Given the description of an element on the screen output the (x, y) to click on. 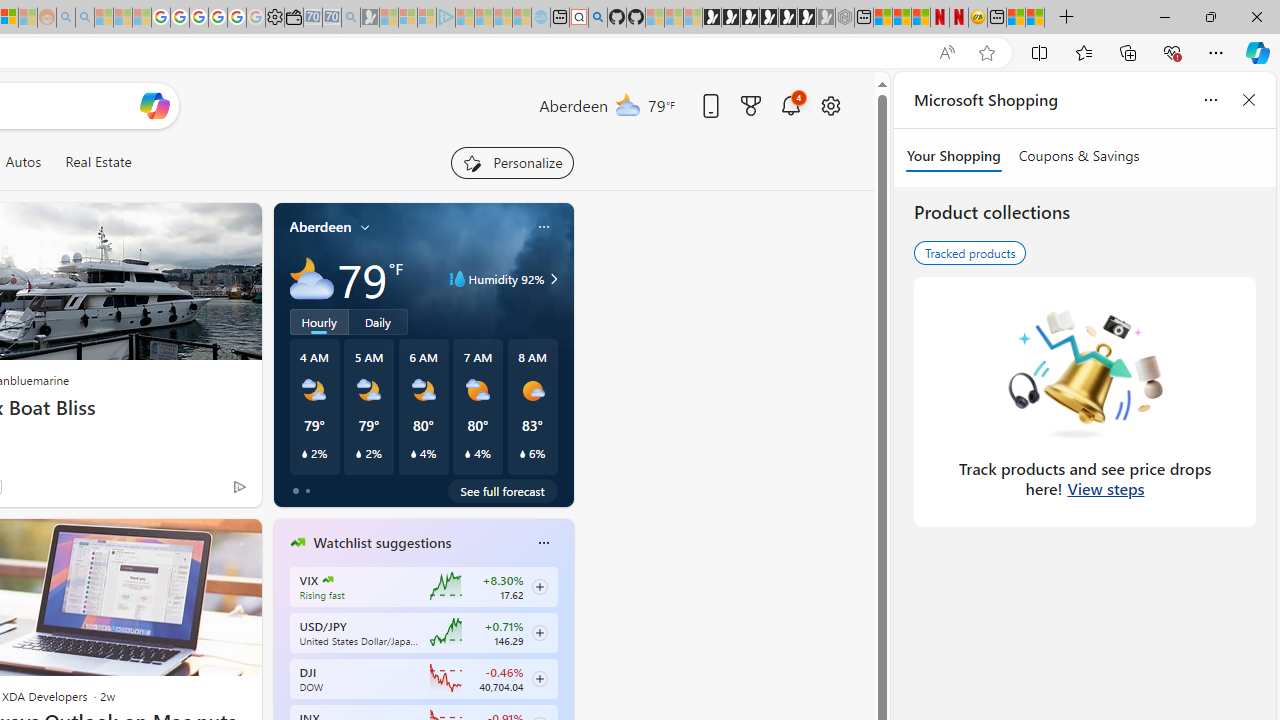
Microsoft rewards (749, 105)
previous (283, 670)
Microsoft Start - Sleeping (502, 17)
Open Copilot (155, 105)
Class: icon-img (543, 542)
